Given the description of an element on the screen output the (x, y) to click on. 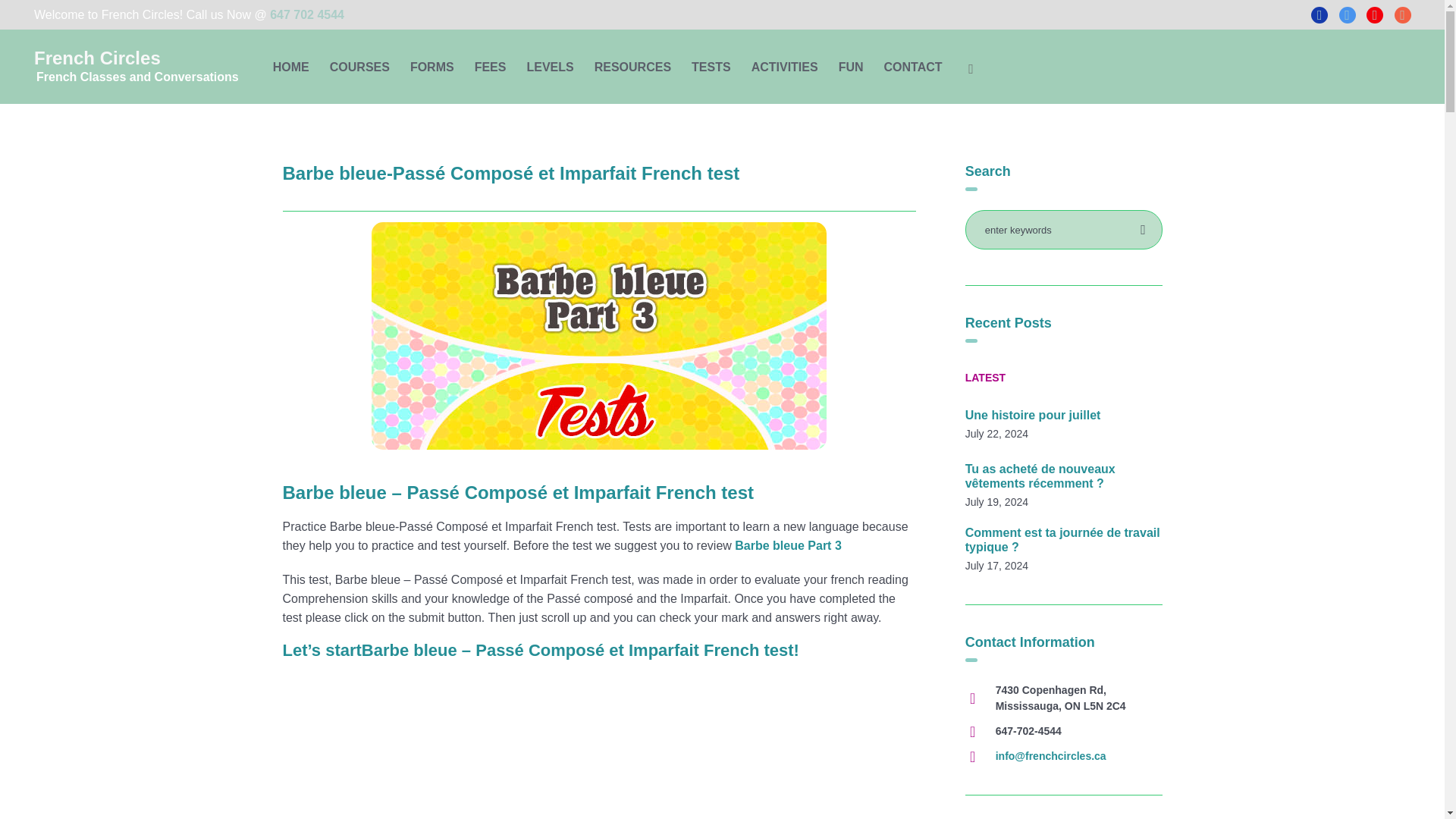
Barbe bleue Test part 3 (599, 335)
COURSES (359, 67)
LEVELS (549, 67)
FEES (490, 67)
Facebook (1319, 14)
HOME (290, 67)
French Circles (135, 66)
Instagram (1402, 14)
Twitter (1347, 14)
647 702 4544 (306, 13)
FORMS (432, 67)
YouTube (1375, 14)
